Given the description of an element on the screen output the (x, y) to click on. 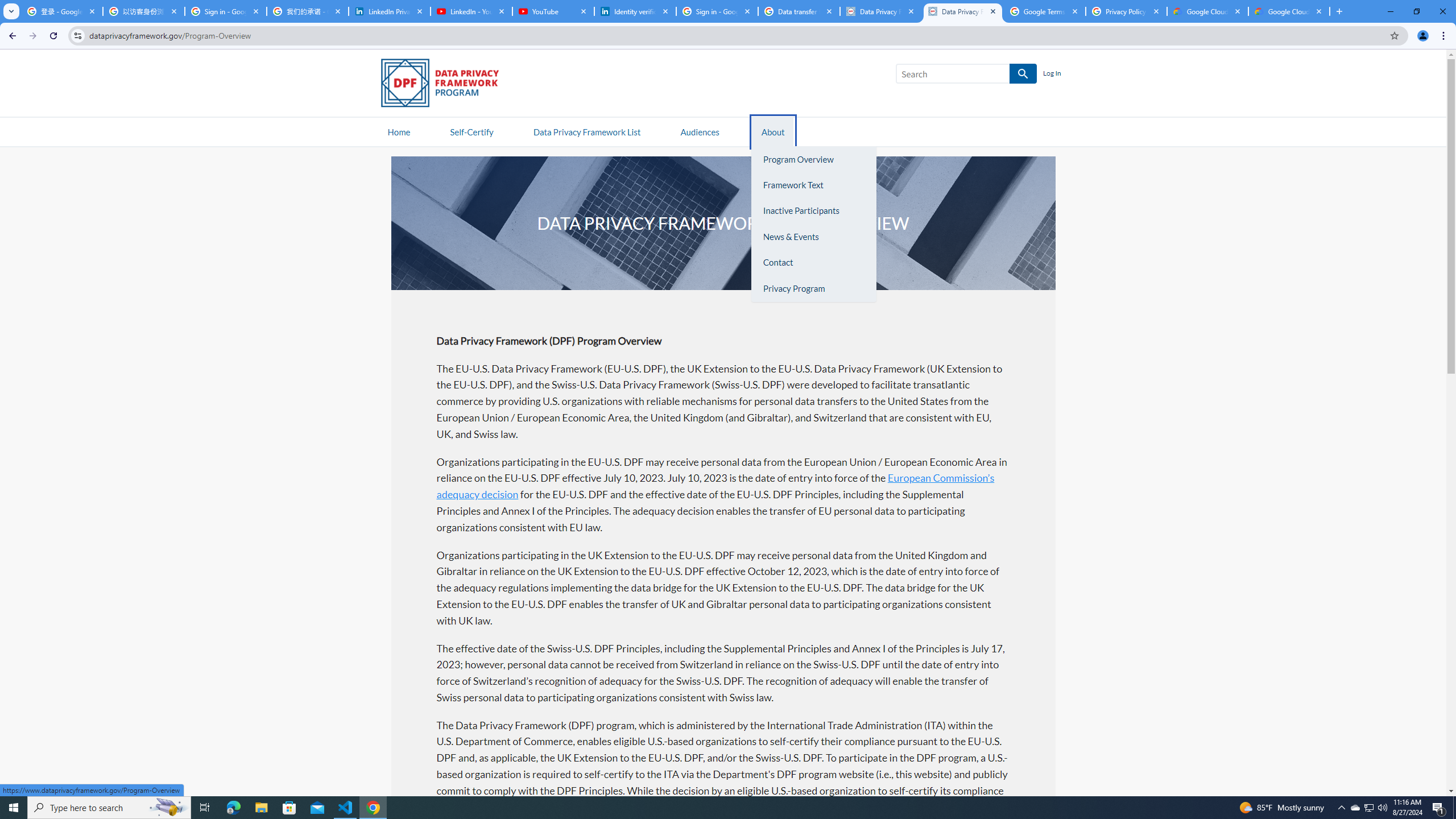
Data Privacy Framework Logo - Link to Homepage (445, 85)
SEARCH (1022, 73)
AutomationID: navitem (699, 131)
Contact (813, 262)
LinkedIn Privacy Policy (389, 11)
Inactive Participants (813, 211)
Sign in - Google Accounts (716, 11)
News & Events (813, 236)
LinkedIn - YouTube (470, 11)
Home (398, 131)
